Given the description of an element on the screen output the (x, y) to click on. 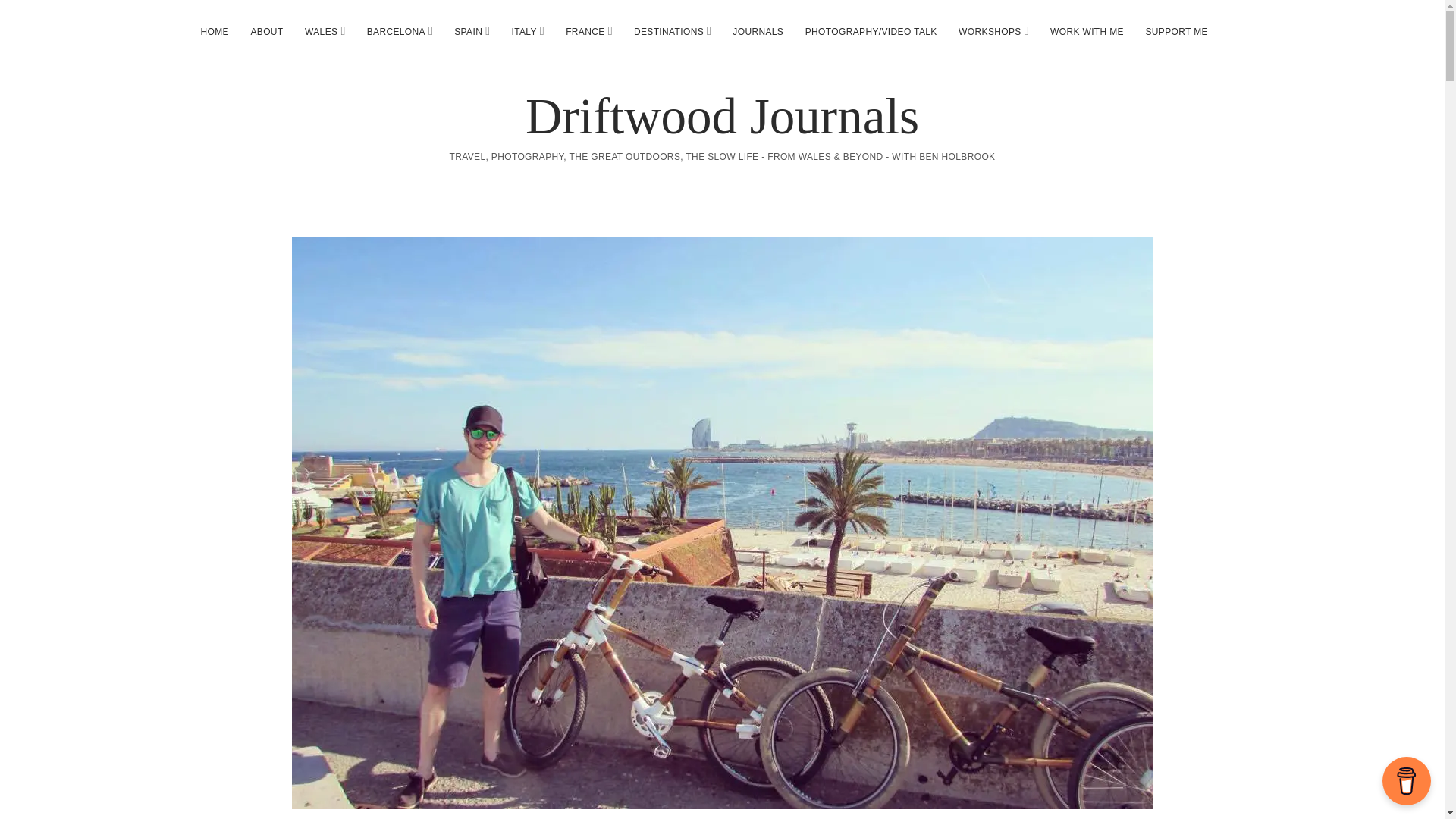
HOME (213, 31)
ABOUT (266, 31)
BARCELONA (395, 31)
FRANCE (585, 31)
ITALY (523, 31)
WALES (320, 31)
SPAIN (468, 31)
